Given the description of an element on the screen output the (x, y) to click on. 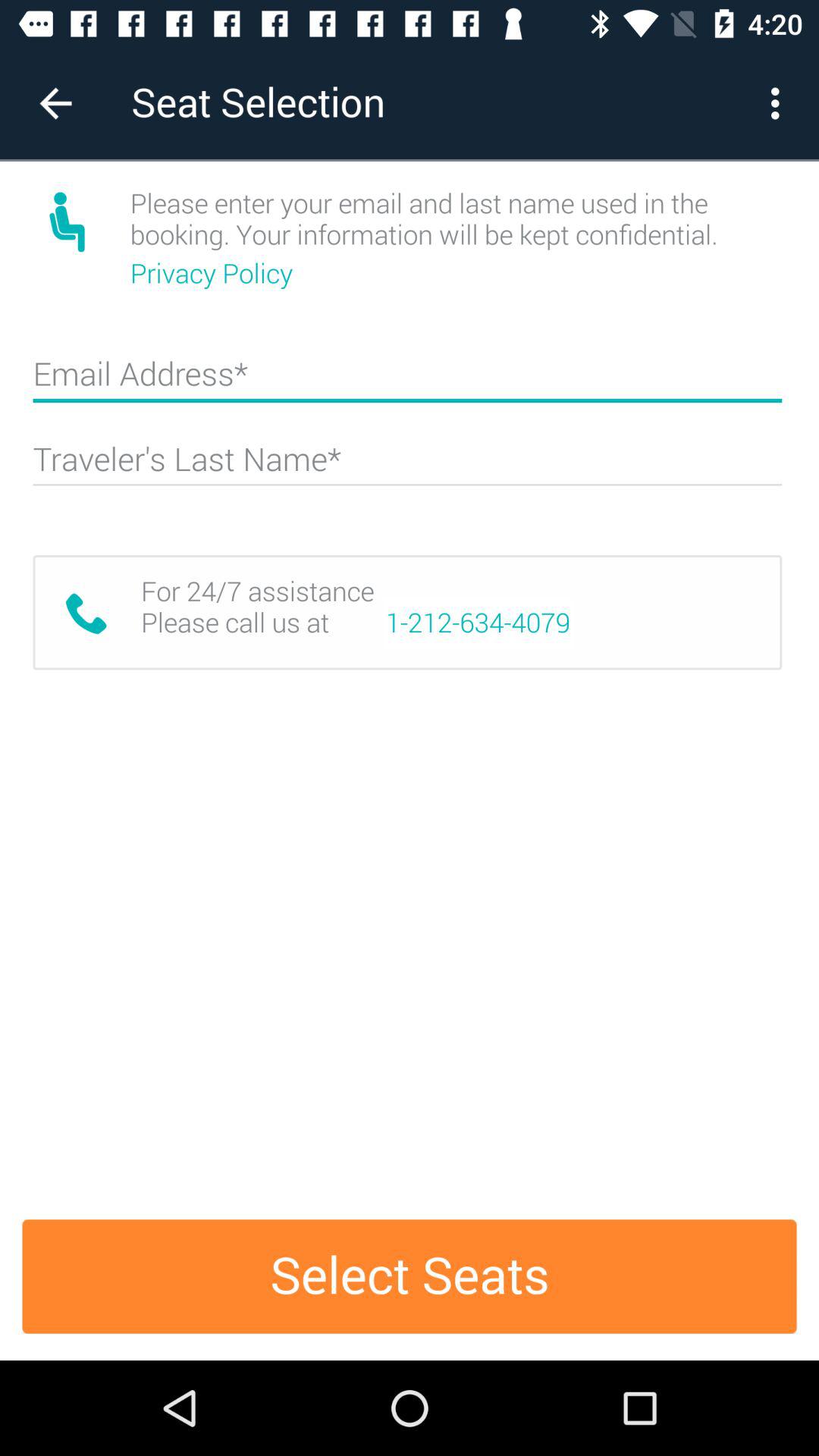
enter email (407, 380)
